Given the description of an element on the screen output the (x, y) to click on. 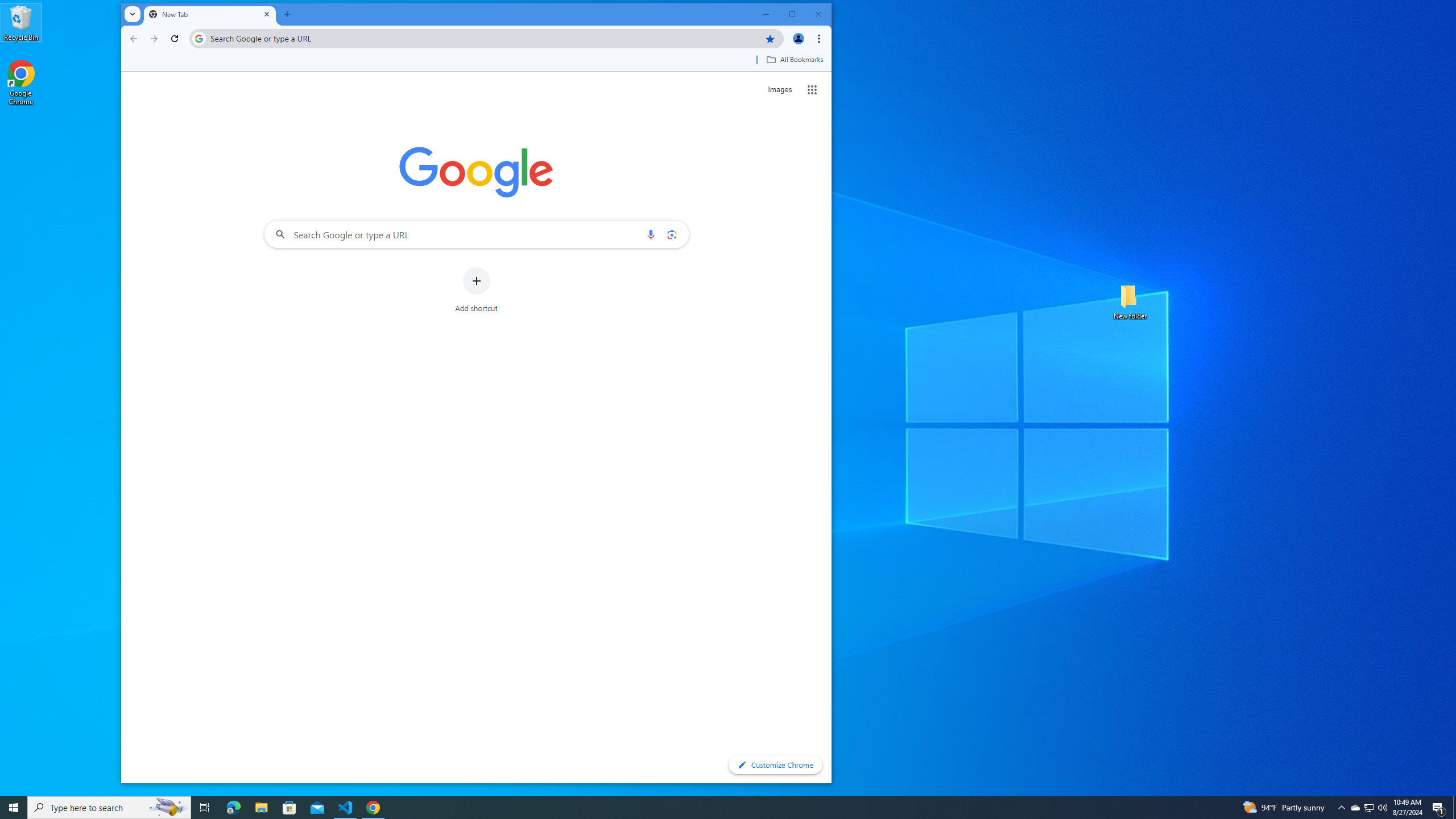
Google Chrome (21, 82)
New folder (1130, 301)
Recycle Bin (21, 22)
